Given the description of an element on the screen output the (x, y) to click on. 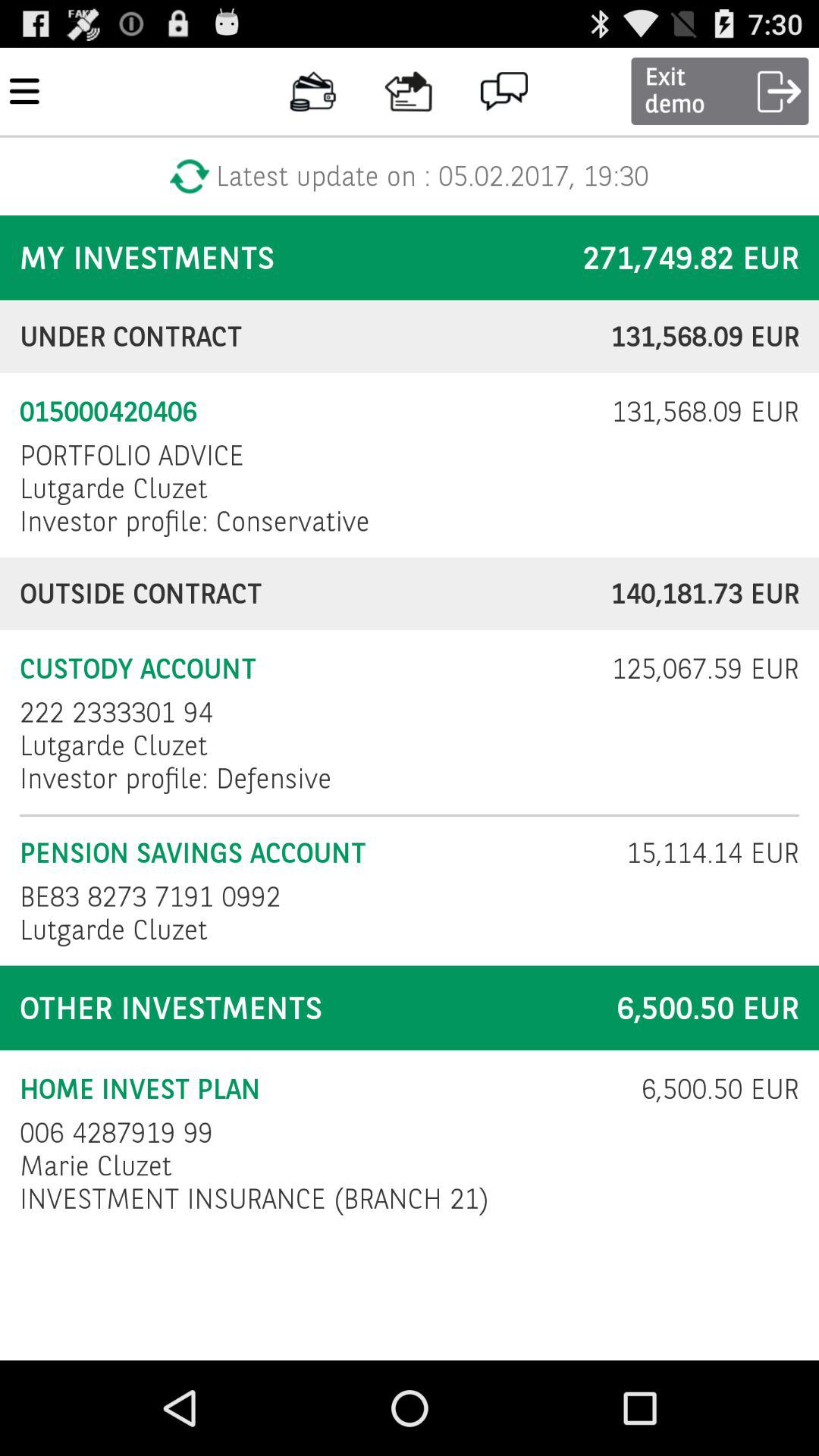
scroll until marie cluzet item (95, 1165)
